Given the description of an element on the screen output the (x, y) to click on. 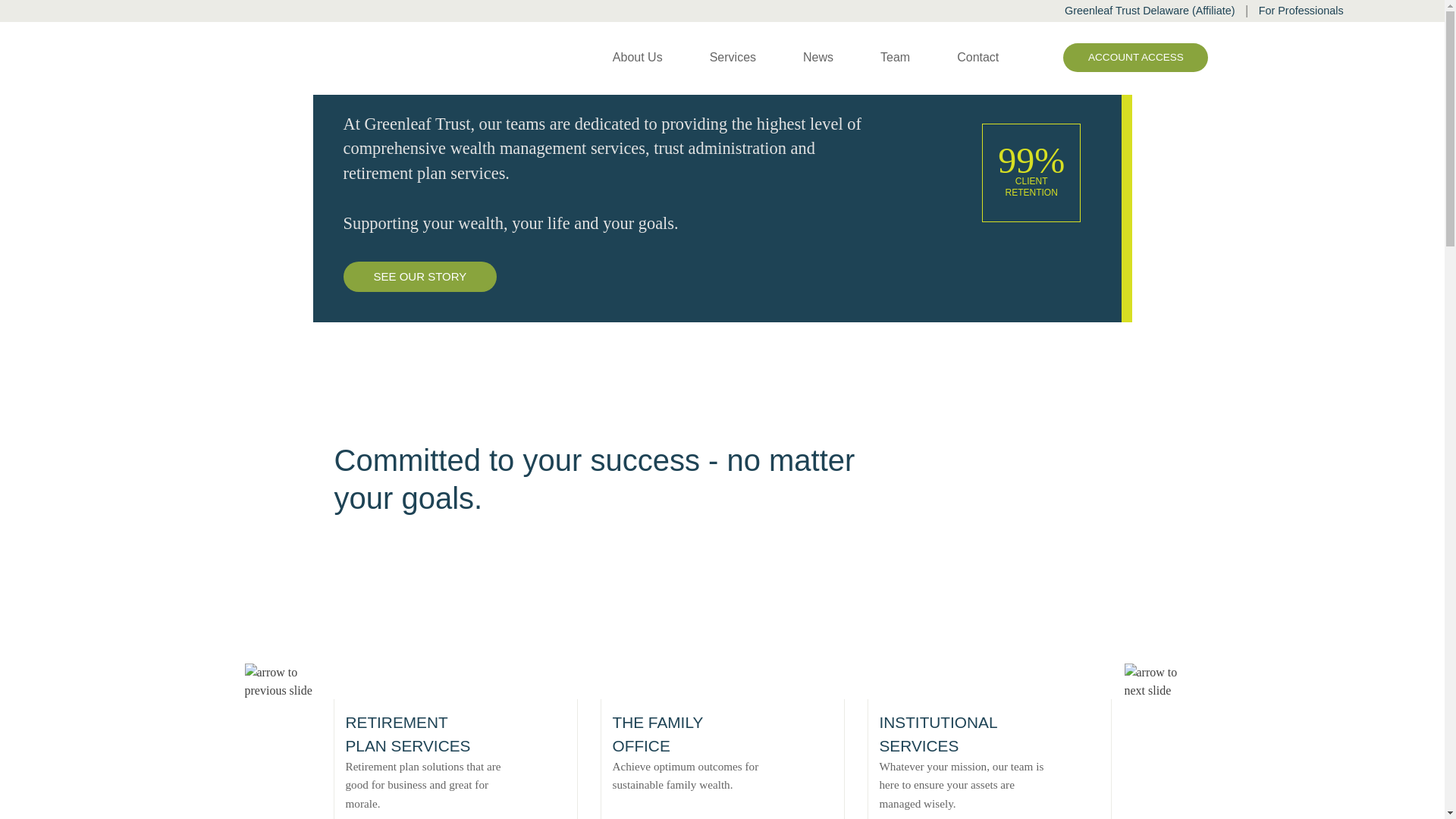
Team (894, 57)
News (817, 57)
Contact (976, 57)
For Professionals (1347, 10)
About Us (636, 57)
Services (731, 57)
ACCOUNT ACCESS (1144, 58)
